Given the description of an element on the screen output the (x, y) to click on. 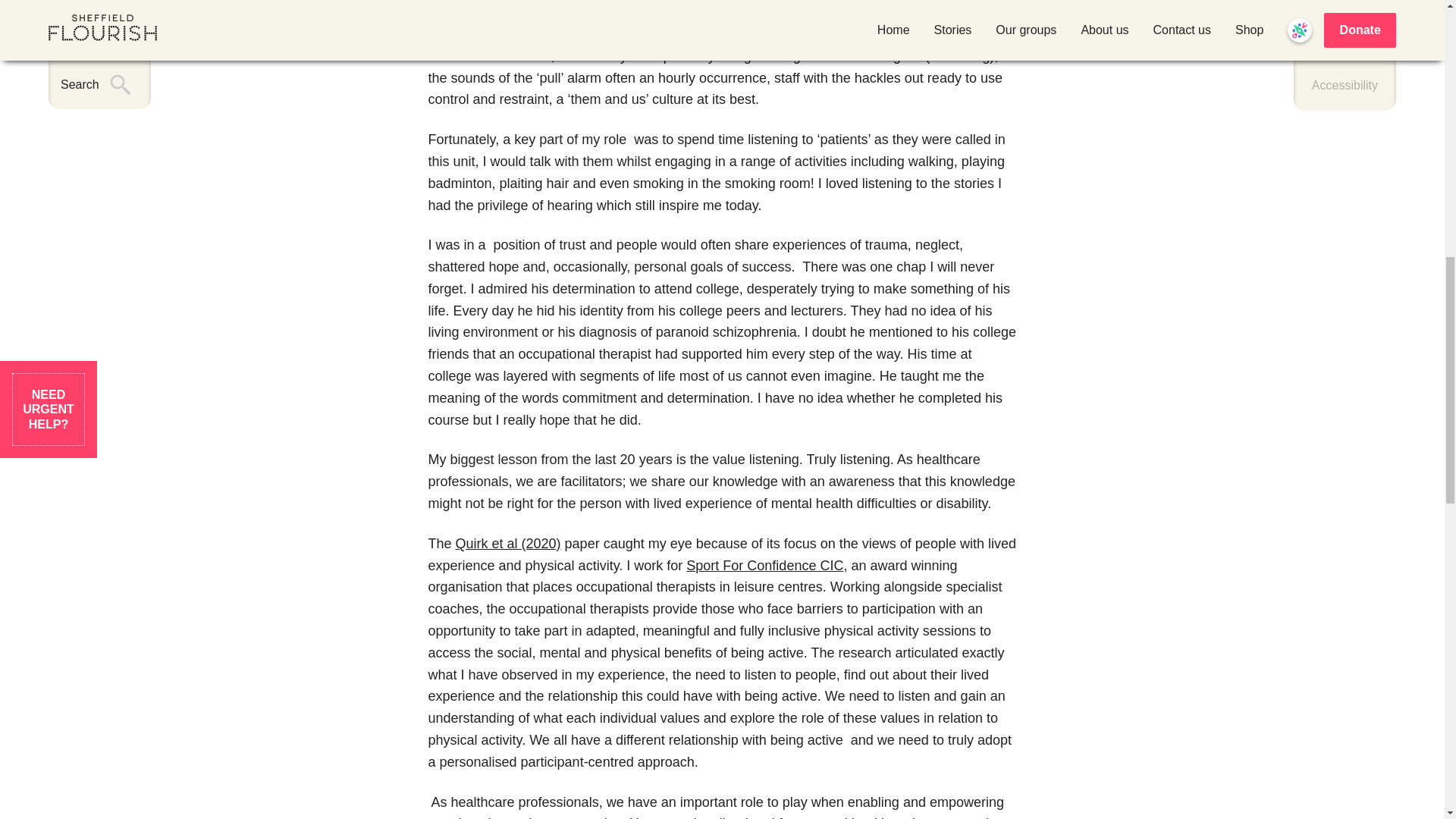
Sport For Confidence CIC (764, 565)
